Given the description of an element on the screen output the (x, y) to click on. 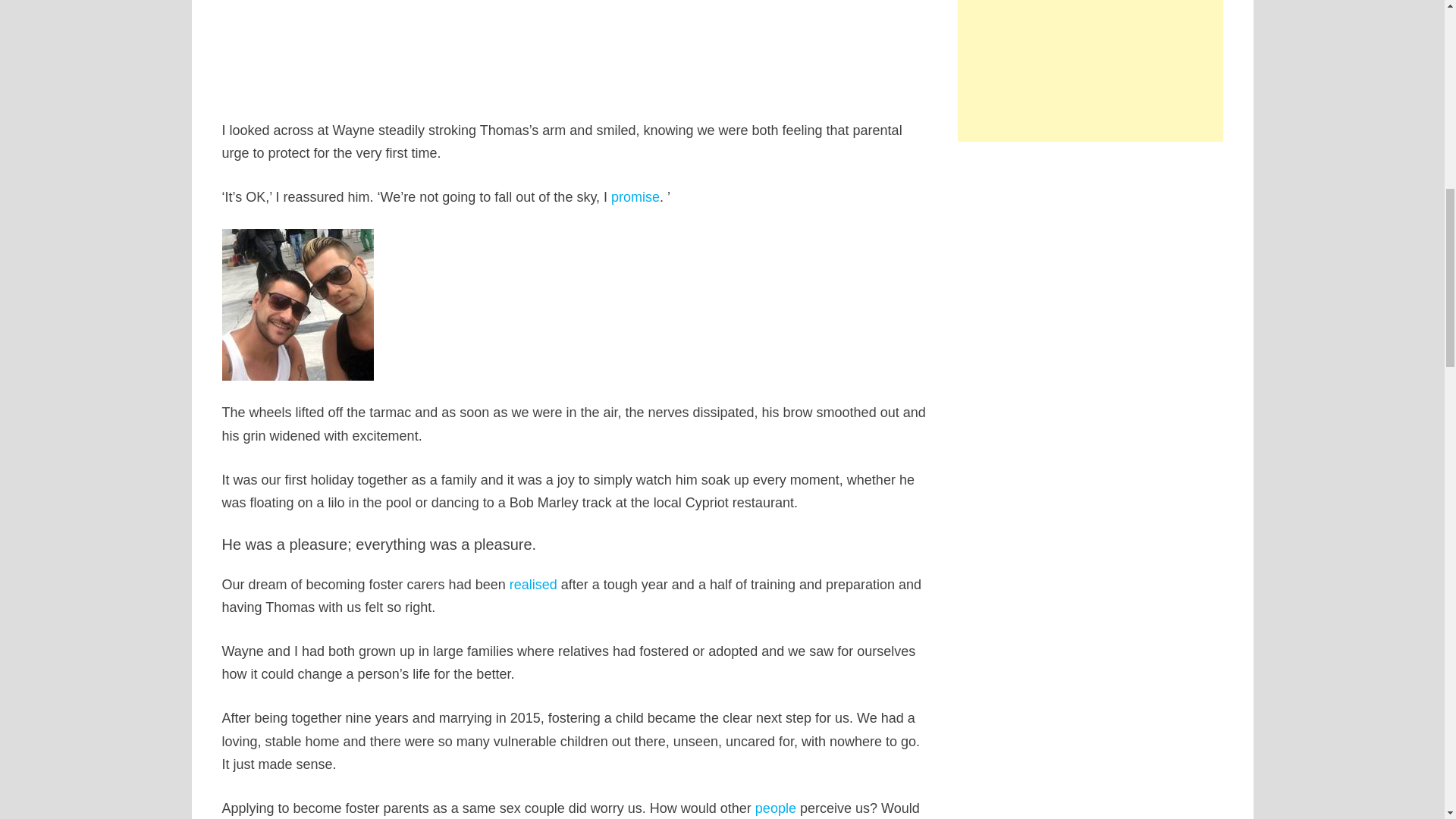
people (775, 807)
promise (635, 196)
Advertisement (1090, 70)
Advertisement (574, 45)
realised (533, 584)
